Given the description of an element on the screen output the (x, y) to click on. 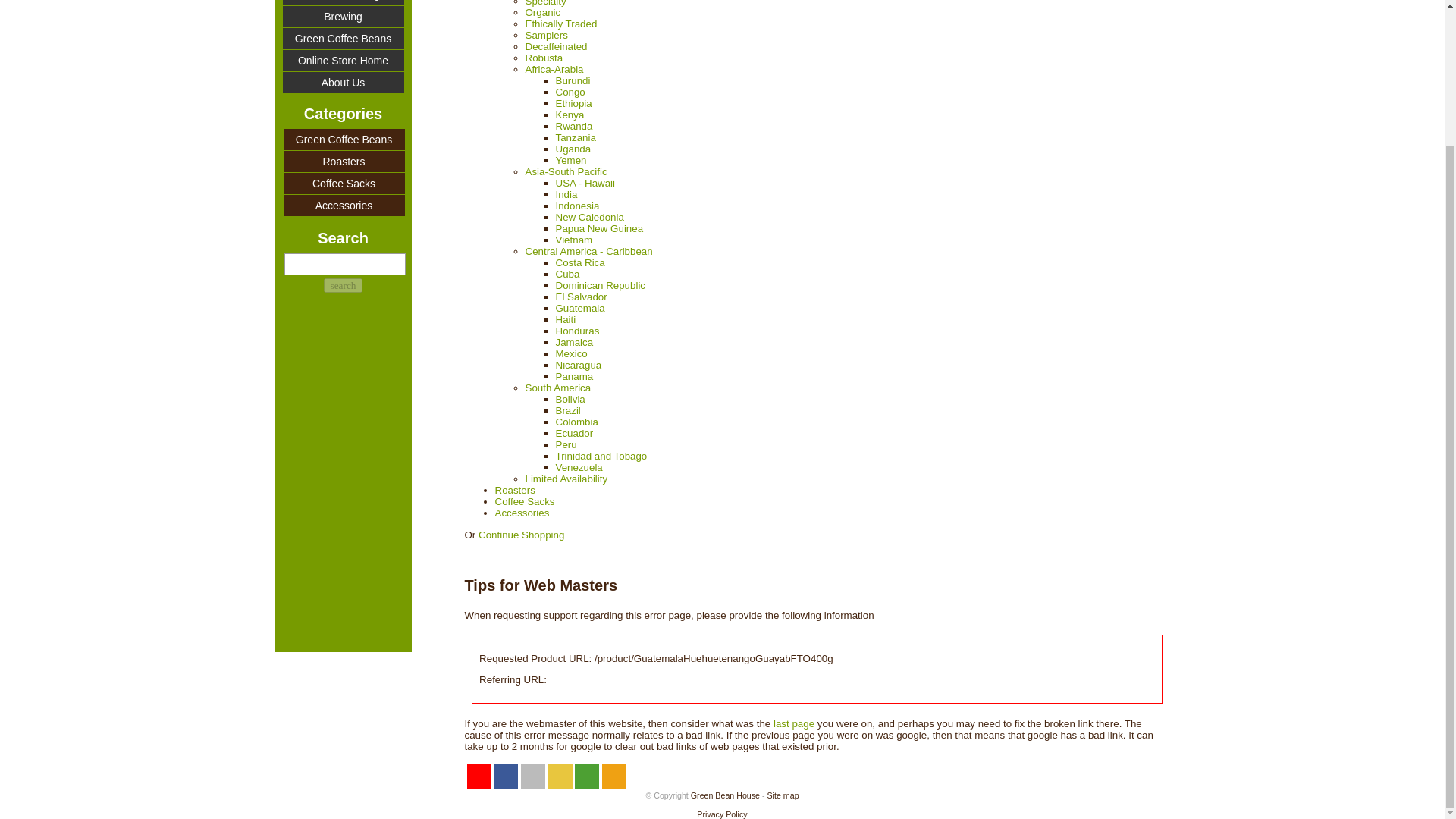
Green Coffee Beans (342, 38)
Online Store Home (342, 60)
Green Coffee Beans (343, 138)
Connect with us: YouTube TheGreenbeanhouse (479, 776)
Connect with us: Facebook greenbeanhouse (505, 776)
Phone Numbers and Contact Details (586, 776)
View Shopping Cart (614, 776)
About Us (342, 82)
Home Roasting (342, 2)
Brewing (342, 16)
